Given the description of an element on the screen output the (x, y) to click on. 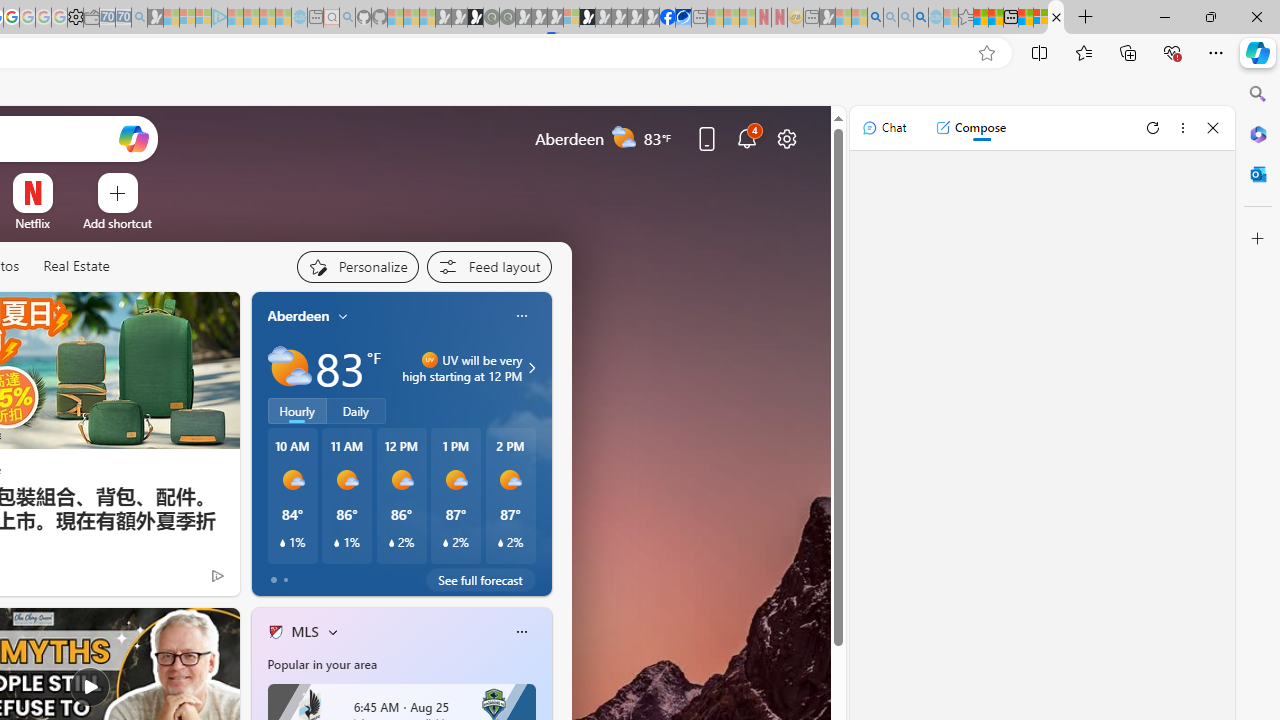
Favorites - Sleeping (965, 17)
Daily (356, 411)
tab-0 (273, 579)
Aberdeen, Hong Kong SAR weather forecast | Microsoft Weather (996, 17)
Personalize your feed" (356, 266)
Aberdeen (298, 315)
